Given the description of an element on the screen output the (x, y) to click on. 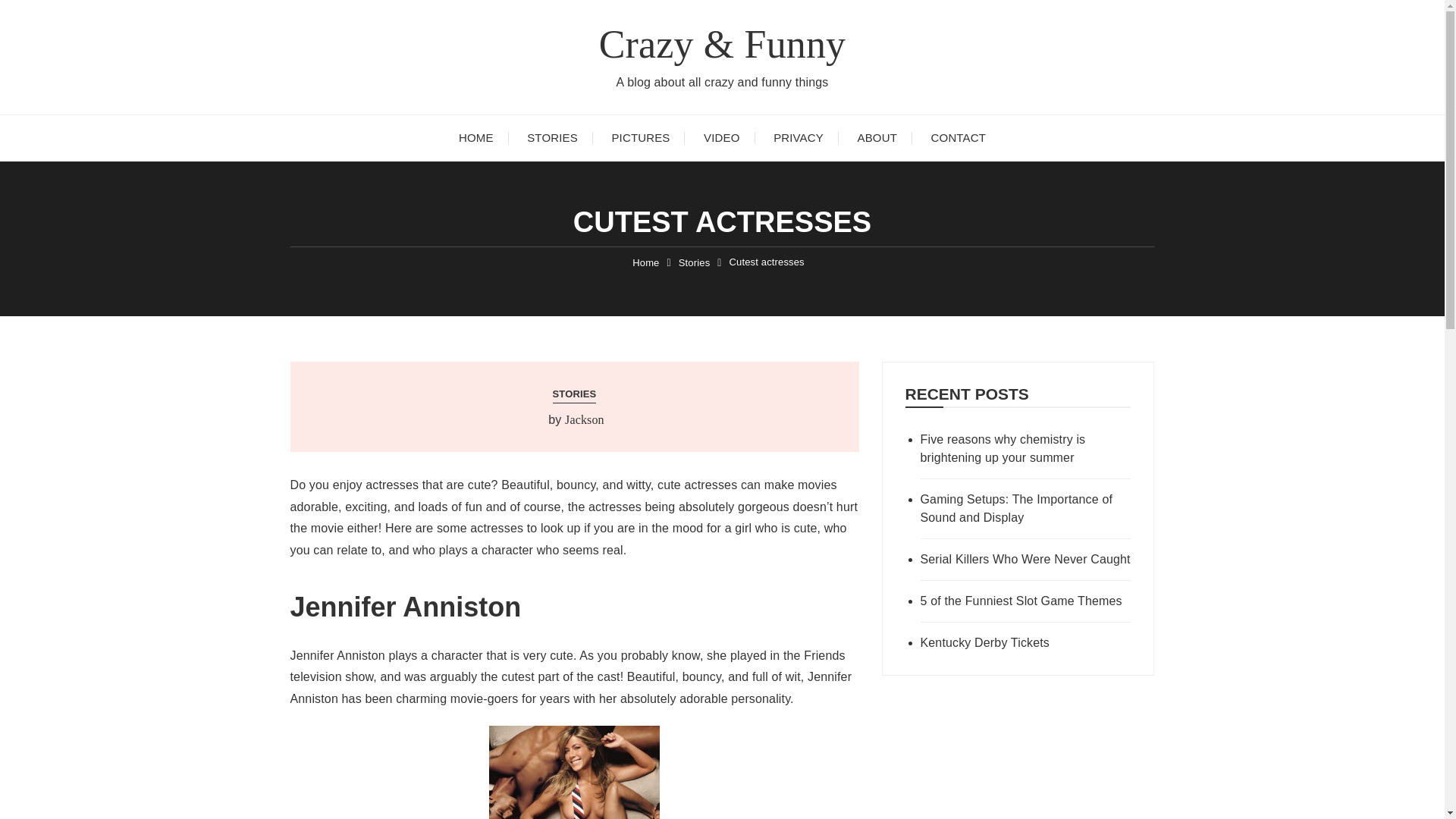
PRIVACY (798, 137)
CONTACT (958, 137)
Stories (694, 263)
ABOUT (877, 137)
Five reasons why chemistry is brightening up your summer (1025, 448)
HOME (476, 137)
PICTURES (639, 137)
Kentucky Derby Tickets (1025, 642)
Jennifer Anniston (574, 772)
Home (645, 263)
Serial Killers Who Were Never Caught (1025, 559)
5 of the Funniest Slot Game Themes (1025, 601)
STORIES (552, 137)
Cutest actresses (767, 262)
STORIES (574, 394)
